Given the description of an element on the screen output the (x, y) to click on. 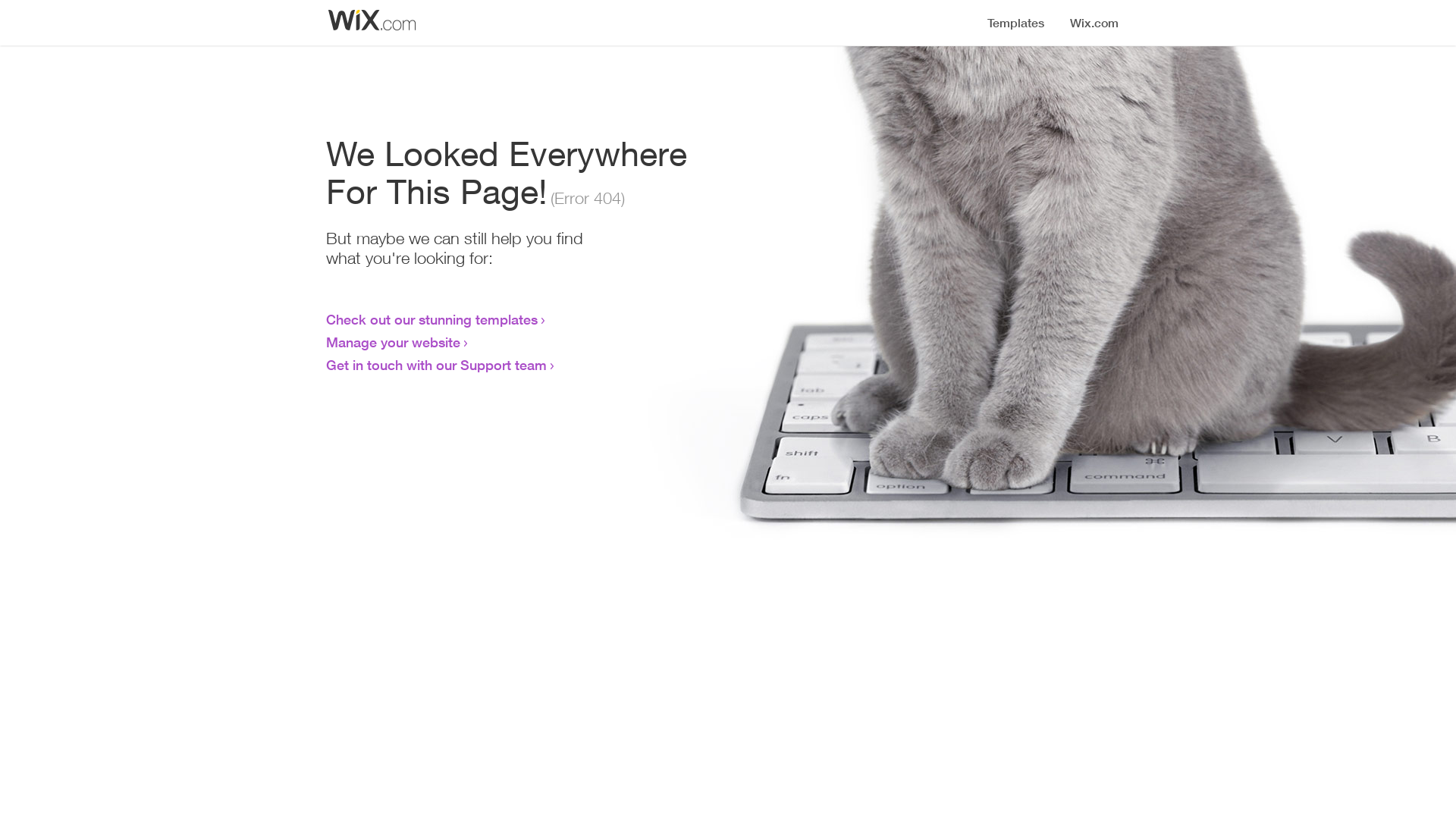
Manage your website Element type: text (393, 341)
Get in touch with our Support team Element type: text (436, 364)
Check out our stunning templates Element type: text (431, 318)
